Given the description of an element on the screen output the (x, y) to click on. 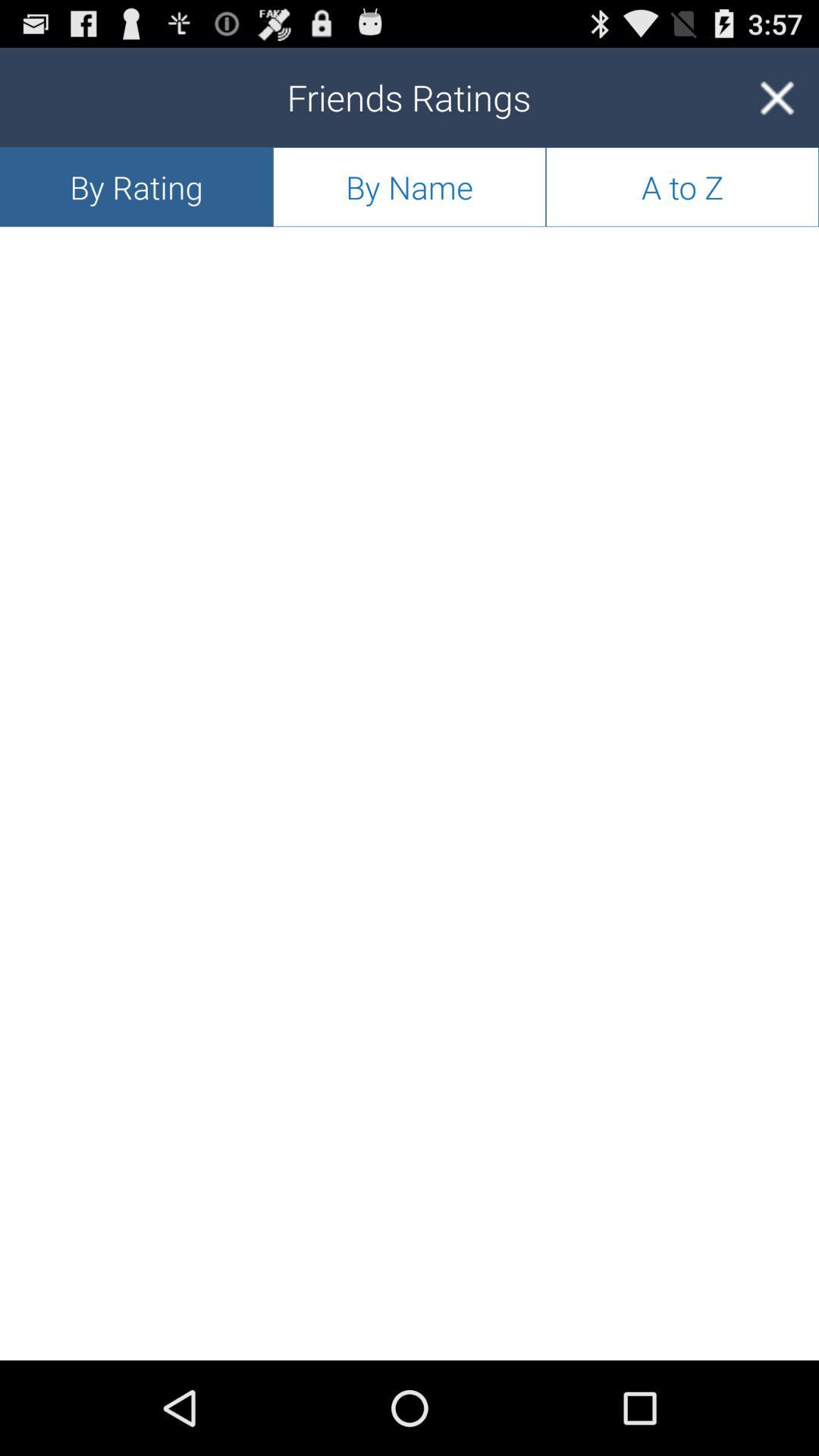
choose the app to the right of the by name (682, 186)
